Given the description of an element on the screen output the (x, y) to click on. 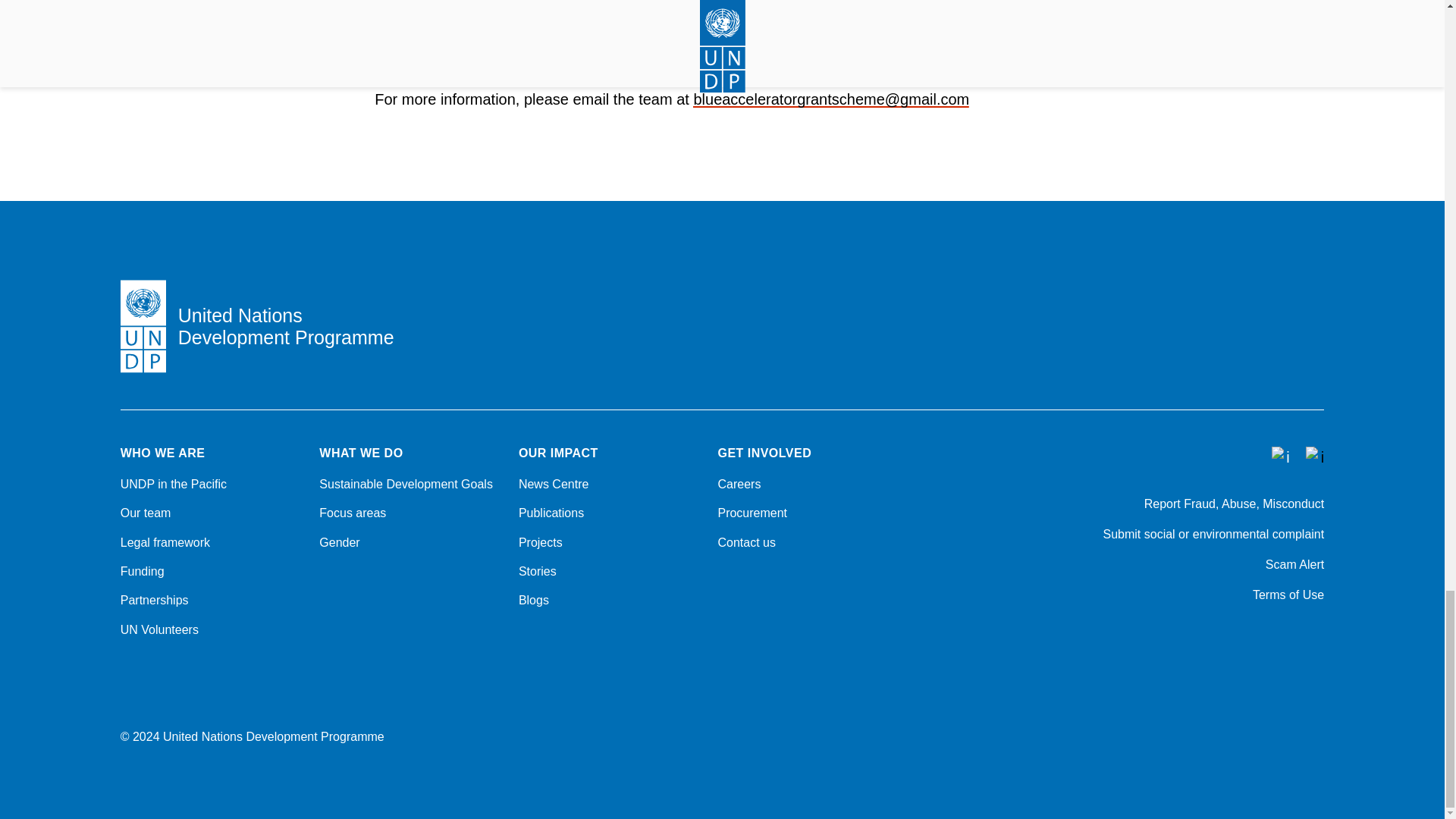
Our team (210, 513)
YouTube (1315, 635)
Instagram (1237, 635)
WHO WE ARE (210, 453)
Legal framework (210, 542)
WHAT WE DO (409, 453)
LinkedIn (1276, 635)
Sustainable Development Goals (409, 484)
UN Volunteers (210, 629)
Focus areas (409, 513)
